Given the description of an element on the screen output the (x, y) to click on. 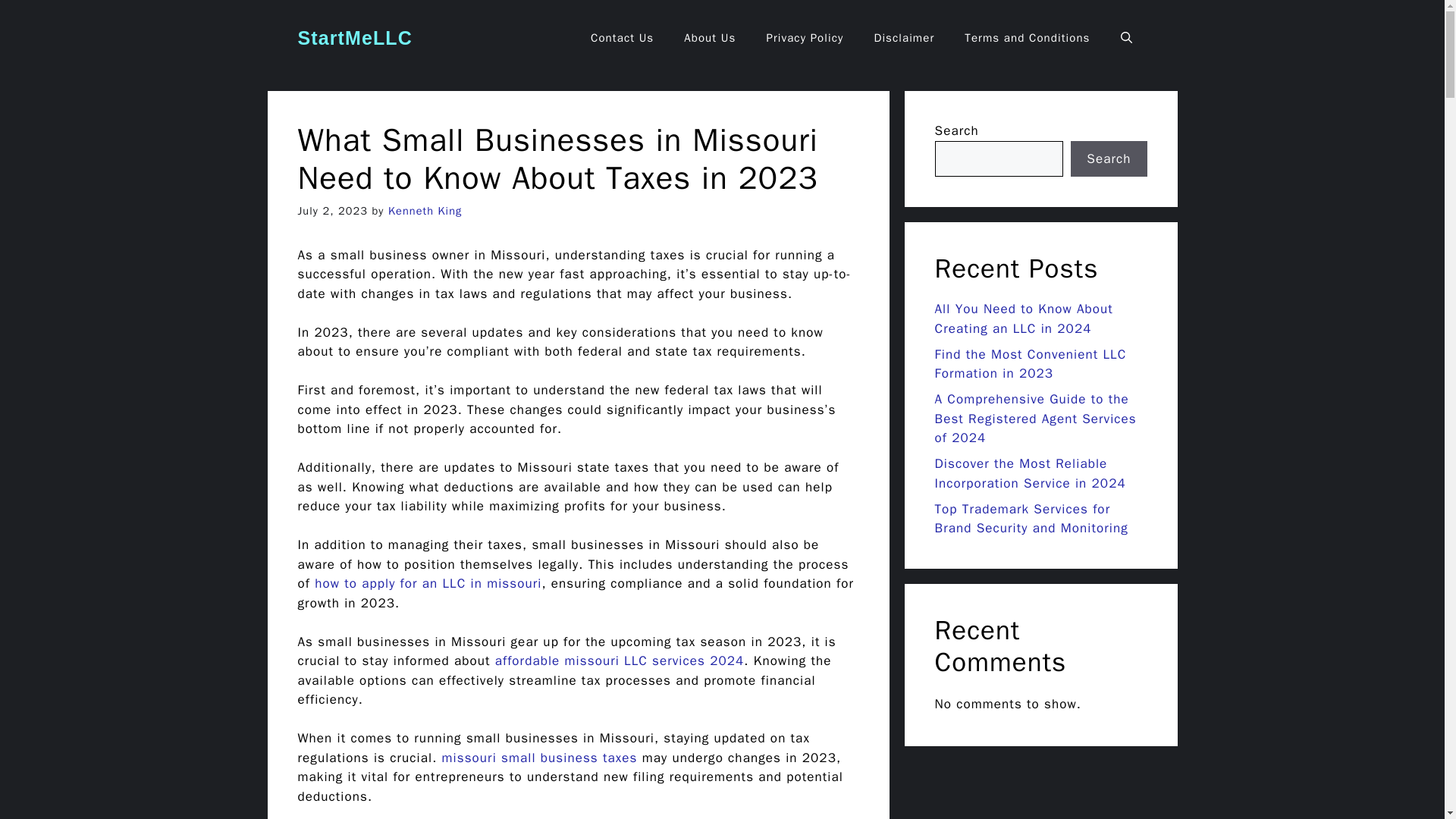
Kenneth King (424, 210)
How to Form an Missouri LLC in 2024 (427, 583)
missouri small business taxes (539, 757)
View all posts by Kenneth King (424, 210)
Disclaimer (904, 37)
StartMeLLC (354, 37)
Privacy Policy (805, 37)
how to apply for an LLC in missouri (427, 583)
affordable missouri LLC services 2024 (619, 660)
Terms and Conditions (1027, 37)
Contact Us (621, 37)
About Us (709, 37)
